Given the description of an element on the screen output the (x, y) to click on. 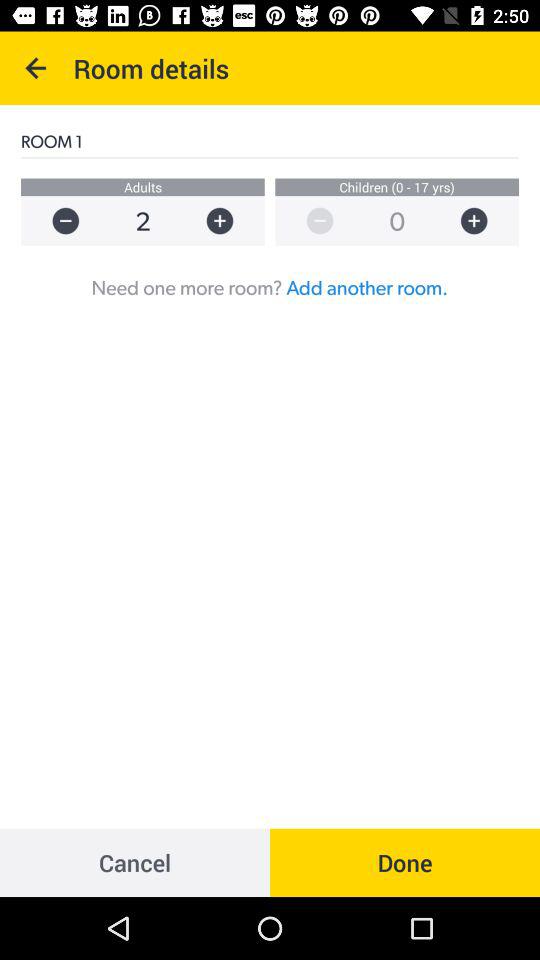
decrease number (55, 220)
